Given the description of an element on the screen output the (x, y) to click on. 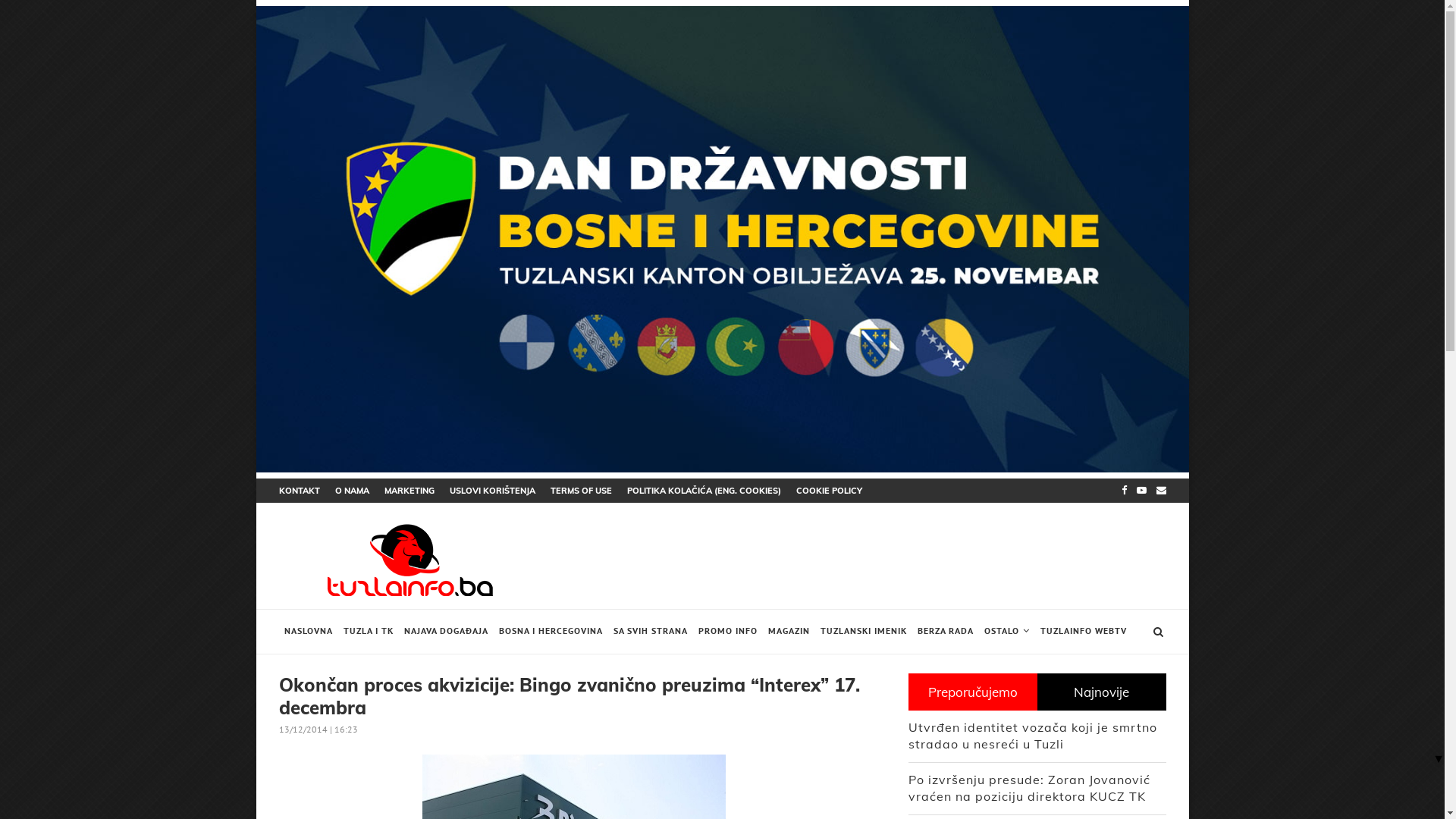
BERZA RADA Element type: text (944, 631)
TERMS OF USE Element type: text (580, 490)
OSTALO Element type: text (1006, 631)
O NAMA Element type: text (352, 490)
Advertisement Element type: hover (1302, 340)
TUZLANSKI IMENIK Element type: text (862, 631)
MARKETING Element type: text (408, 490)
COOKIE POLICY Element type: text (829, 490)
MAGAZIN Element type: text (788, 631)
SA SVIH STRANA Element type: text (650, 631)
Advertisement Element type: hover (142, 340)
Najnovije Element type: text (1101, 691)
PROMO INFO Element type: text (727, 631)
Advertisement Element type: hover (858, 558)
TUZLA I TK Element type: text (368, 631)
NASLOVNA Element type: text (308, 631)
TUZLAINFO WEBTV Element type: text (1082, 631)
BOSNA I HERCEGOVINA Element type: text (549, 631)
KONTAKT Element type: text (299, 490)
